Given the description of an element on the screen output the (x, y) to click on. 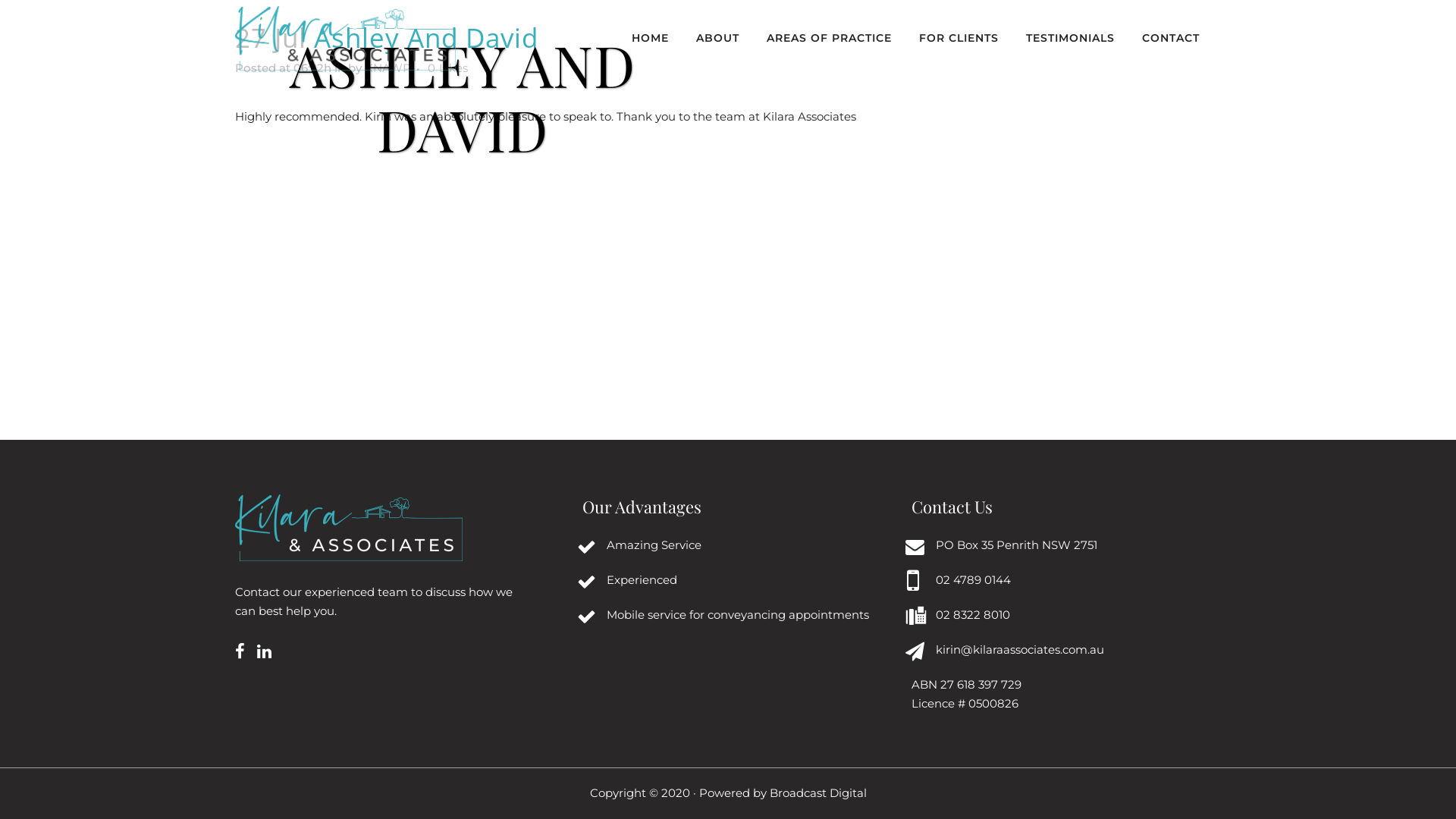
CONTACT Element type: text (1170, 37)
AREAS OF PRACTICE Element type: text (829, 37)
ABOUT Element type: text (717, 37)
KNAWP Element type: text (387, 67)
HOME Element type: text (650, 37)
kirin@kilaraassociates.com.au Element type: text (1019, 648)
02 8322 8010 Element type: text (972, 613)
Broadcast Digital Element type: text (817, 792)
02 4789 0144 Element type: text (972, 578)
FOR CLIENTS Element type: text (958, 37)
TESTIMONIALS Element type: text (1069, 37)
0 Likes Element type: text (447, 67)
